Given the description of an element on the screen output the (x, y) to click on. 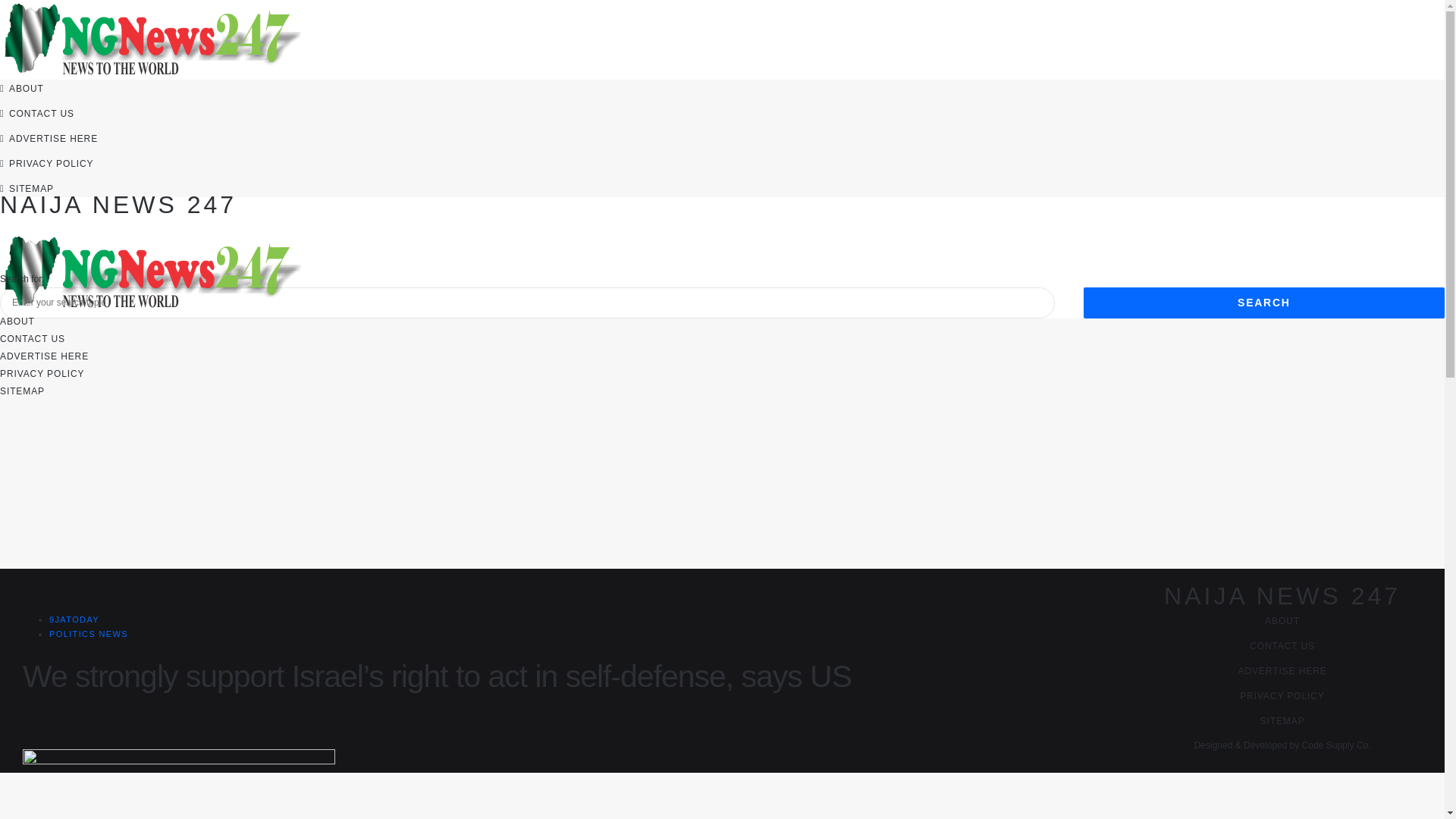
SITEMAP (1282, 720)
ABOUT (25, 88)
NAIJA NEWS 247 (117, 204)
PRIVACY POLICY (1282, 696)
ABOUT (1282, 620)
SITEMAP (30, 188)
9JATODAY (74, 619)
SITEMAP (22, 390)
POLITICS NEWS (88, 633)
